Given the description of an element on the screen output the (x, y) to click on. 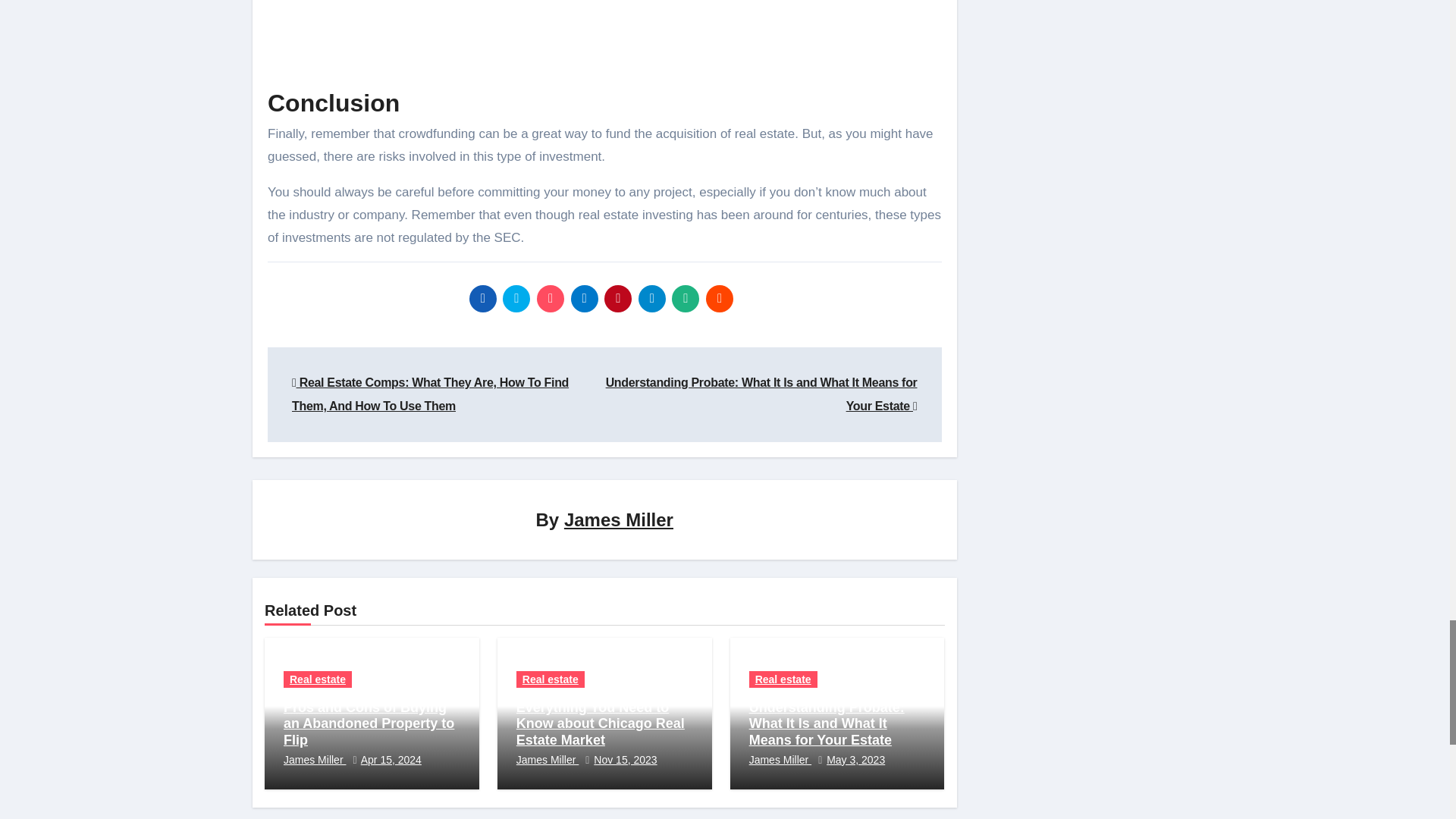
YouTube video player (603, 41)
